Given the description of an element on the screen output the (x, y) to click on. 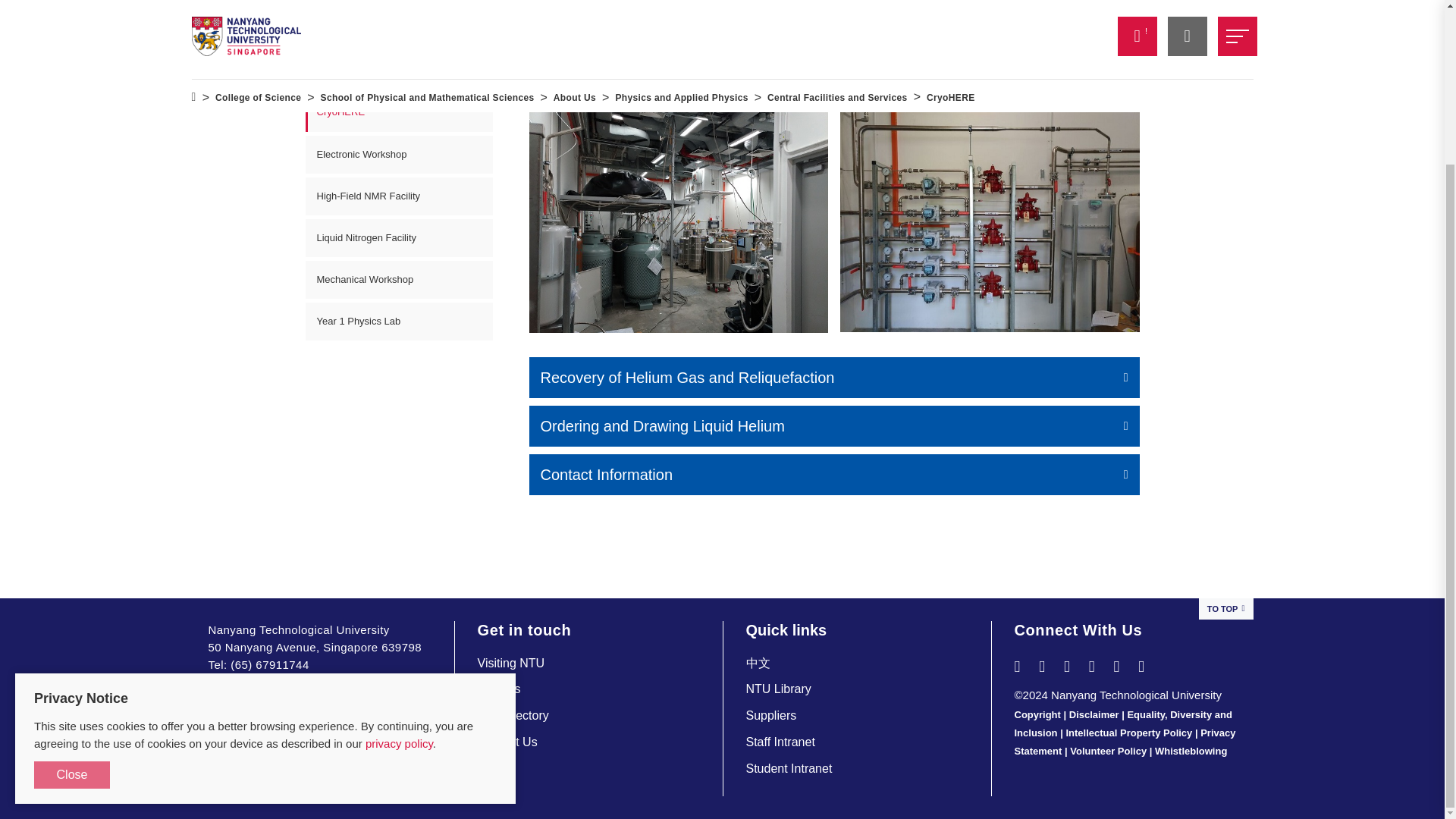
pipelineflowmeter (990, 219)
CryoHERE (678, 219)
Close (71, 579)
privacy policy (398, 548)
TO TOP (1225, 608)
